Given the description of an element on the screen output the (x, y) to click on. 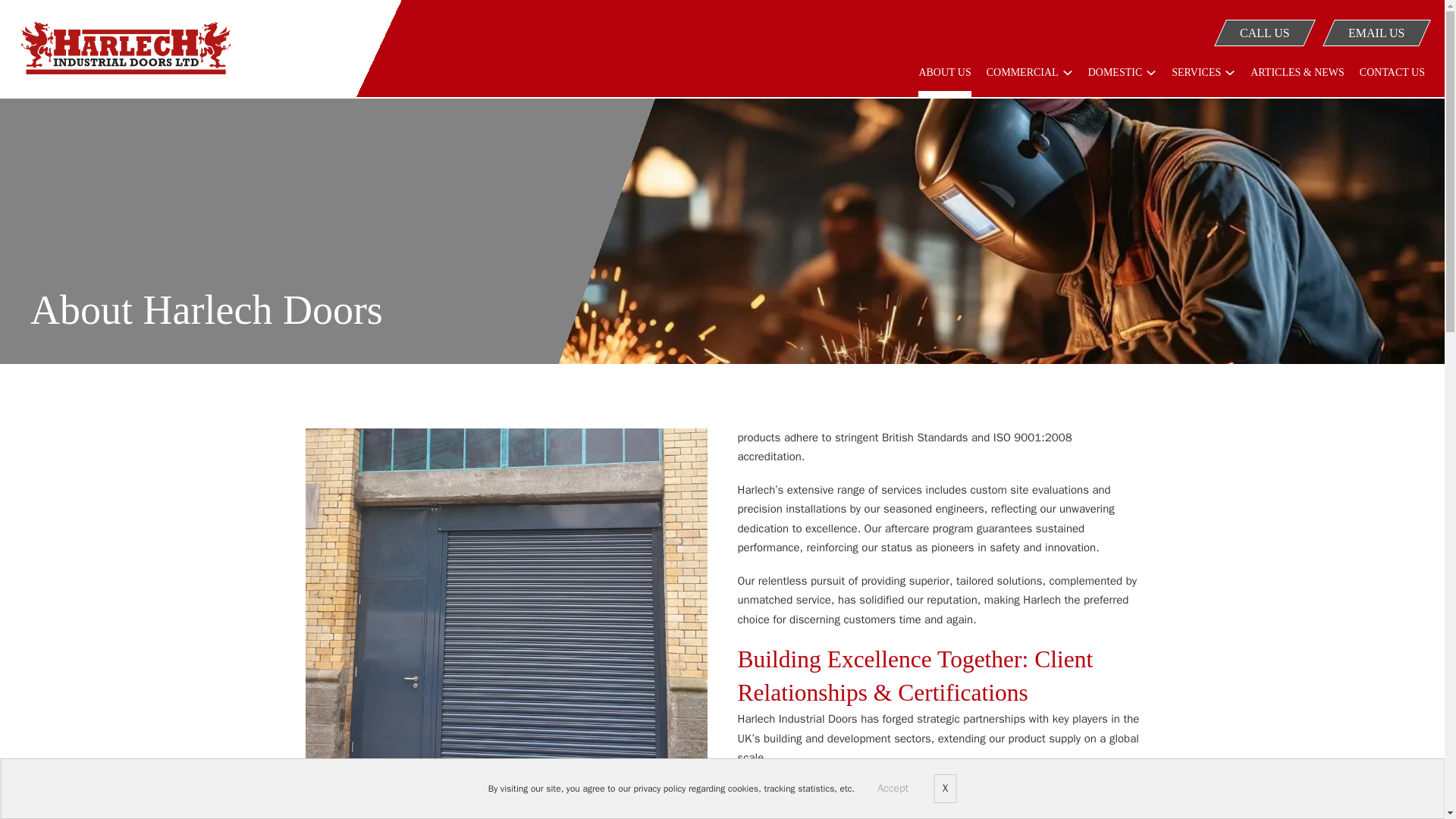
CALL US (1258, 32)
ABOUT US (944, 81)
DOMESTIC (1114, 78)
CONTACT US (1392, 81)
COMMERCIAL (1022, 78)
SERVICES (1196, 78)
EMAIL US (1371, 32)
